Given the description of an element on the screen output the (x, y) to click on. 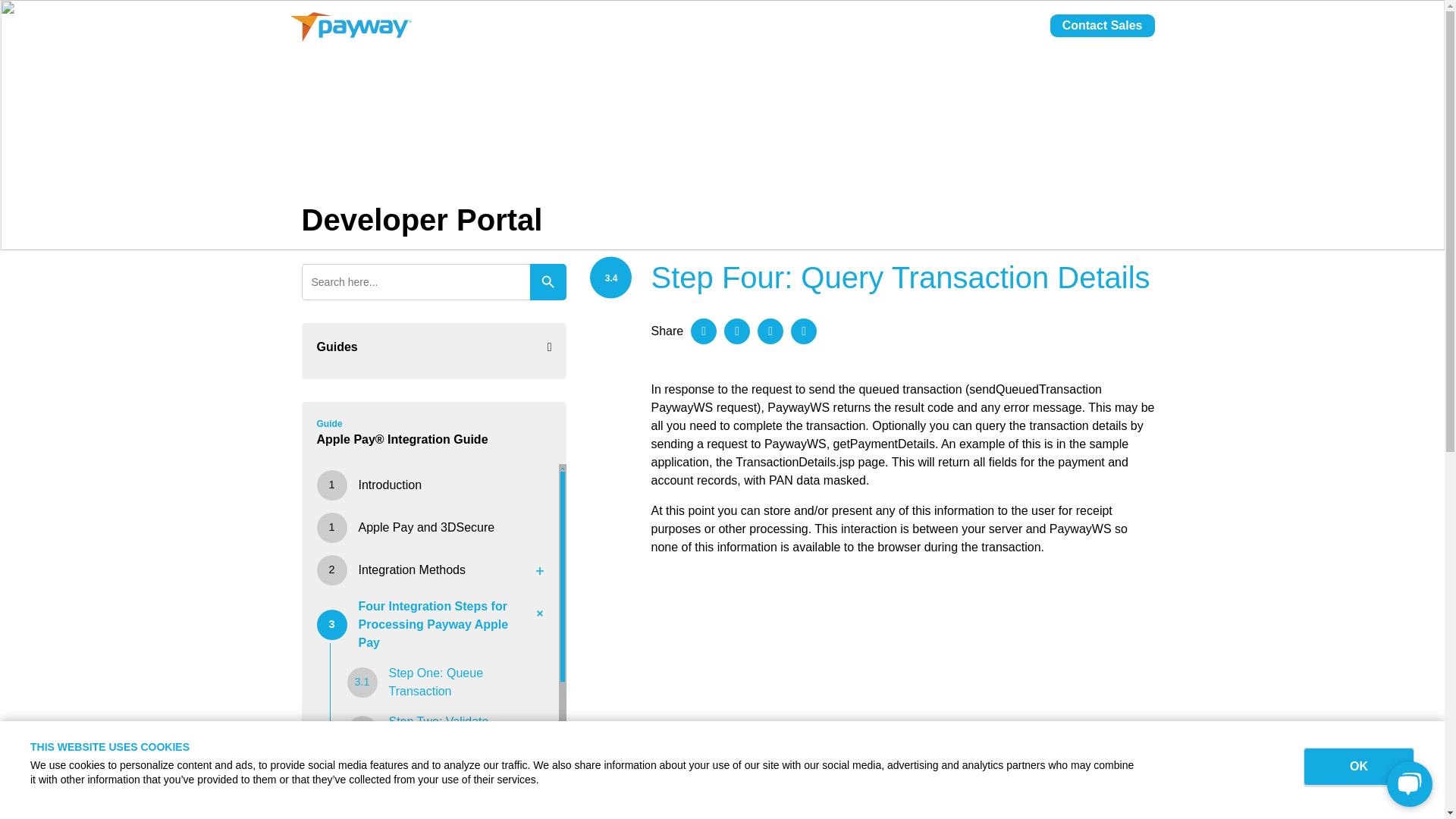
Contact Sales (1101, 25)
Developers (925, 33)
Get Help (1005, 33)
OK (1358, 766)
Contact Sales (1101, 25)
Pricing (792, 33)
Payment Processing (688, 33)
About (852, 33)
